Given the description of an element on the screen output the (x, y) to click on. 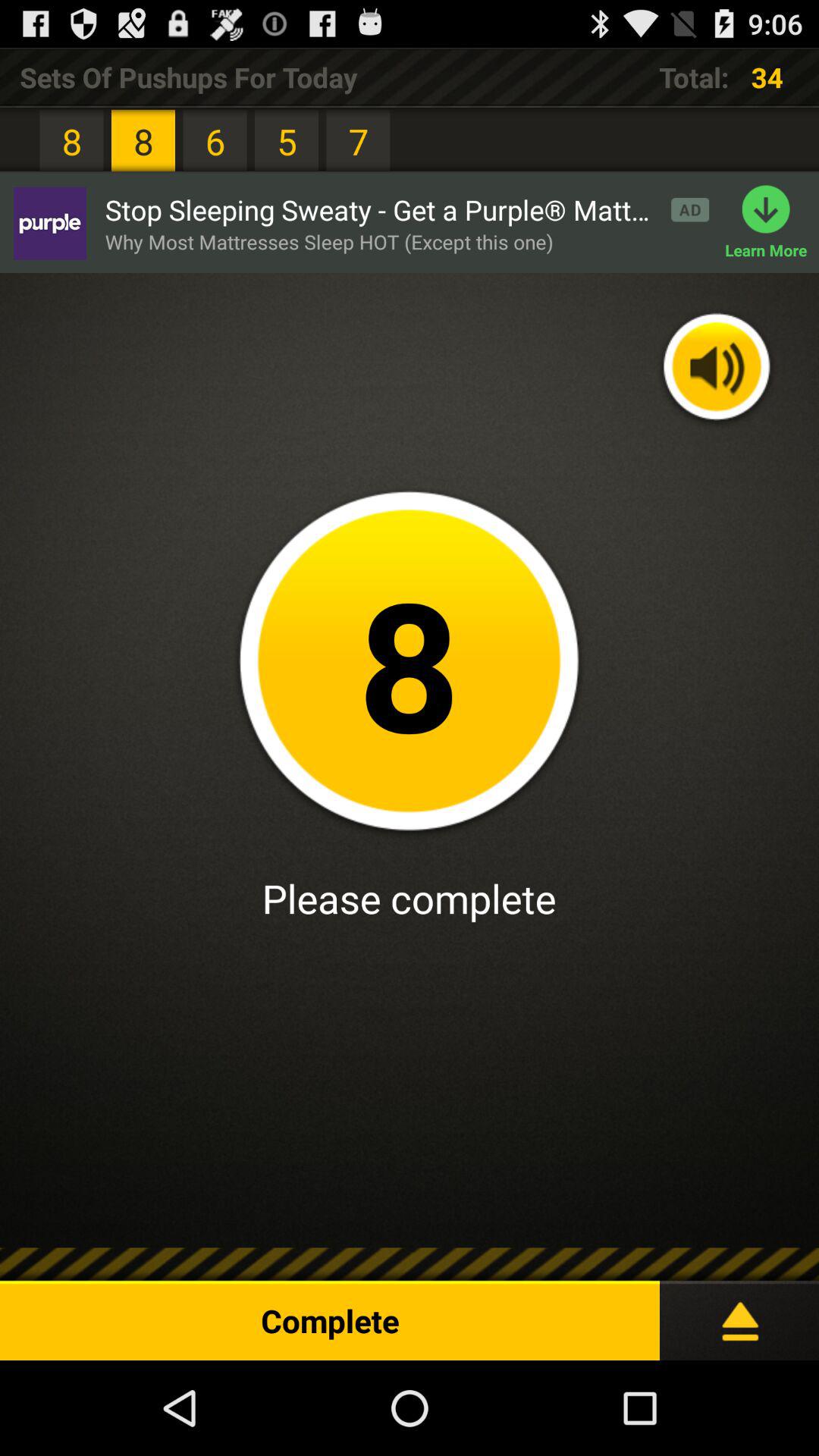
select the icon to the right of the complete (739, 1314)
